Given the description of an element on the screen output the (x, y) to click on. 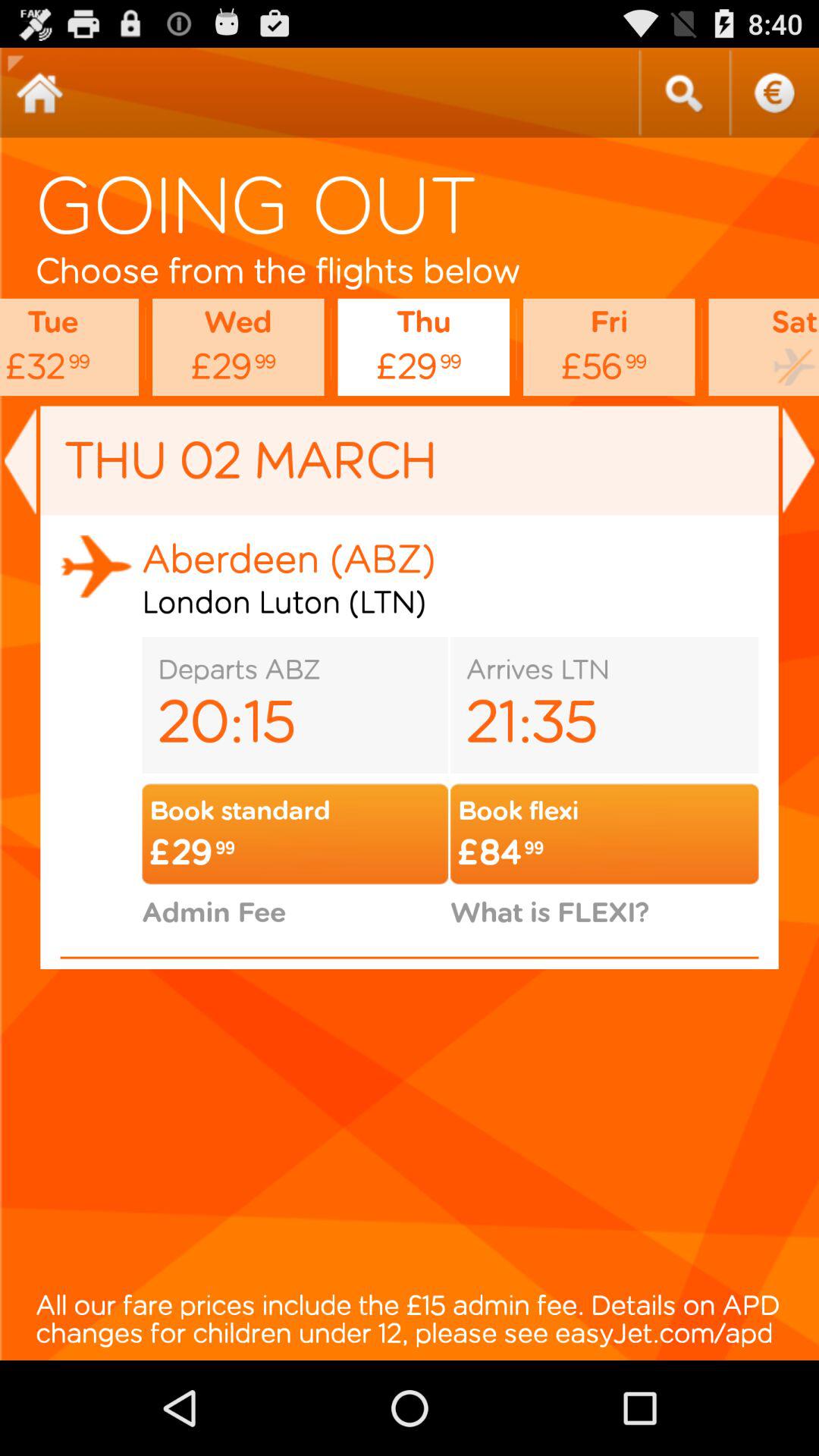
get help (774, 92)
